Given the description of an element on the screen output the (x, y) to click on. 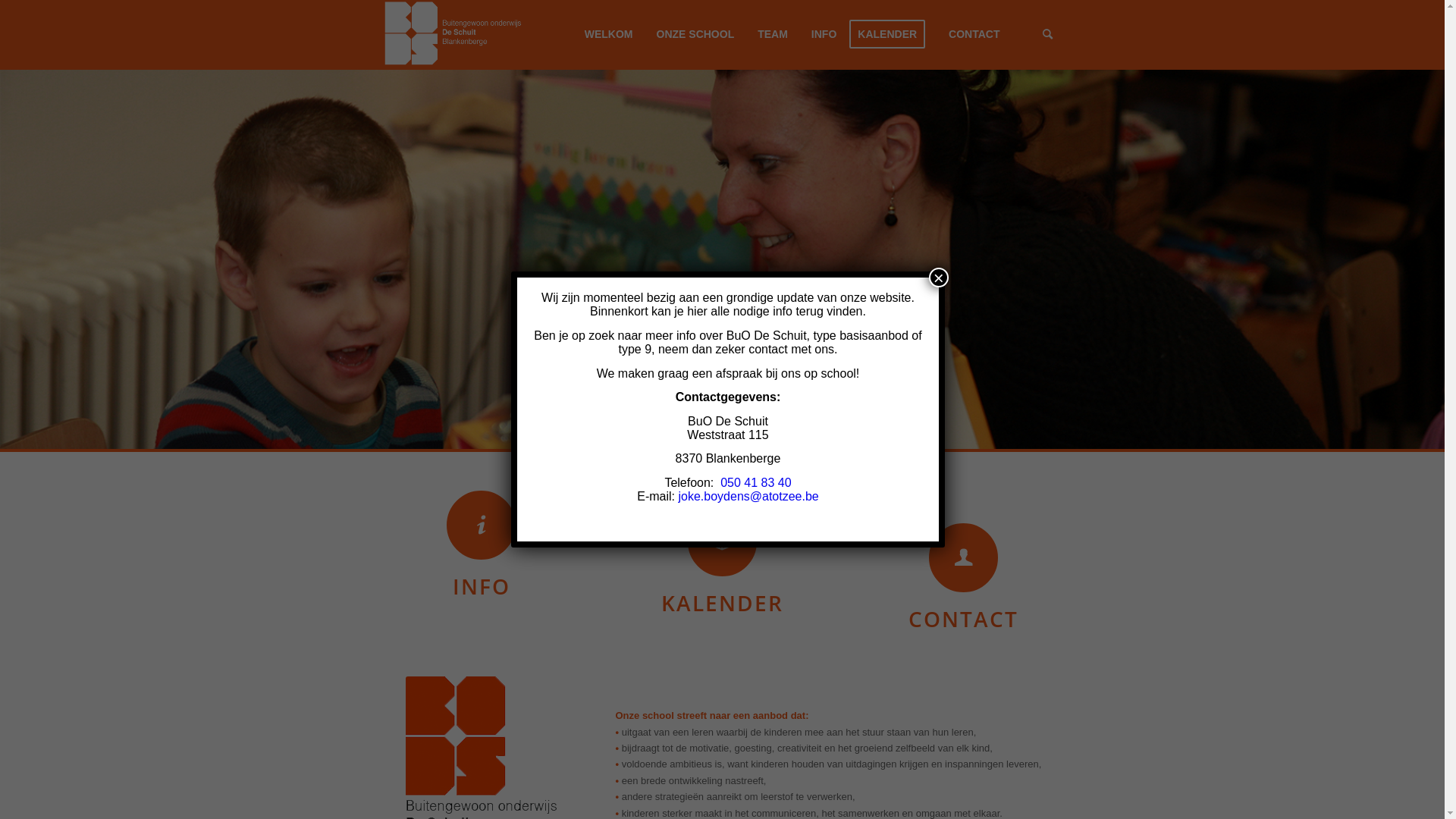
INFO Element type: text (480, 585)
INFO Element type: text (823, 34)
TEAM Element type: text (772, 34)
KALENDER Element type: text (722, 602)
CONTACT Element type: text (971, 34)
joke.boydens@atotzee.be Element type: text (747, 495)
CONTACT Element type: text (963, 618)
050 41 83 40 Element type: text (755, 482)
KALENDER Element type: text (891, 34)
WELKOM Element type: text (608, 34)
ONZE SCHOOL Element type: text (695, 34)
